Given the description of an element on the screen output the (x, y) to click on. 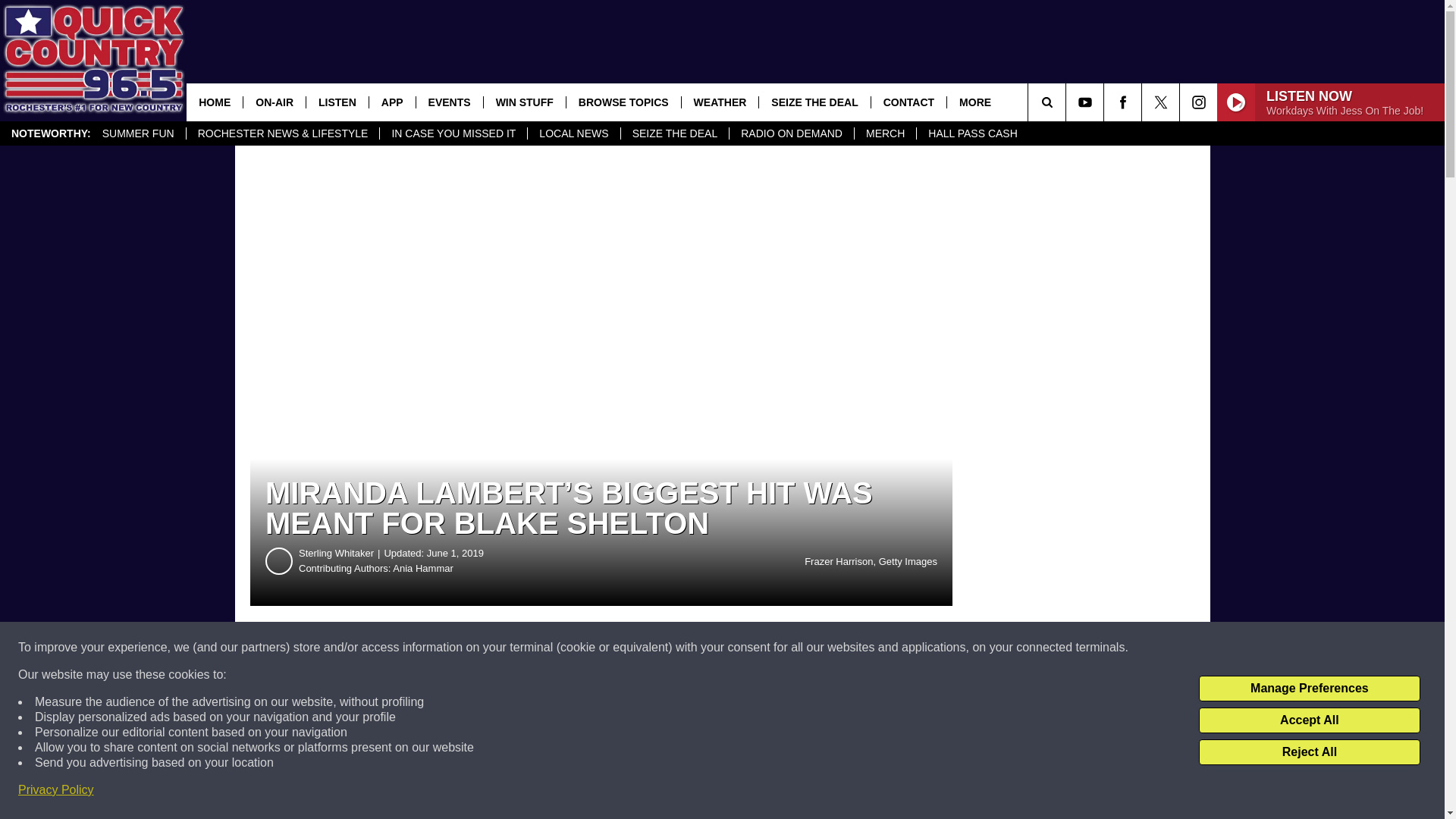
Accept All (1309, 720)
Share on Twitter (741, 647)
Share on Facebook (460, 647)
APP (391, 102)
LISTEN (336, 102)
LOCAL NEWS (573, 133)
ON-AIR (274, 102)
Reject All (1309, 751)
HALL PASS CASH (972, 133)
Manage Preferences (1309, 688)
